Given the description of an element on the screen output the (x, y) to click on. 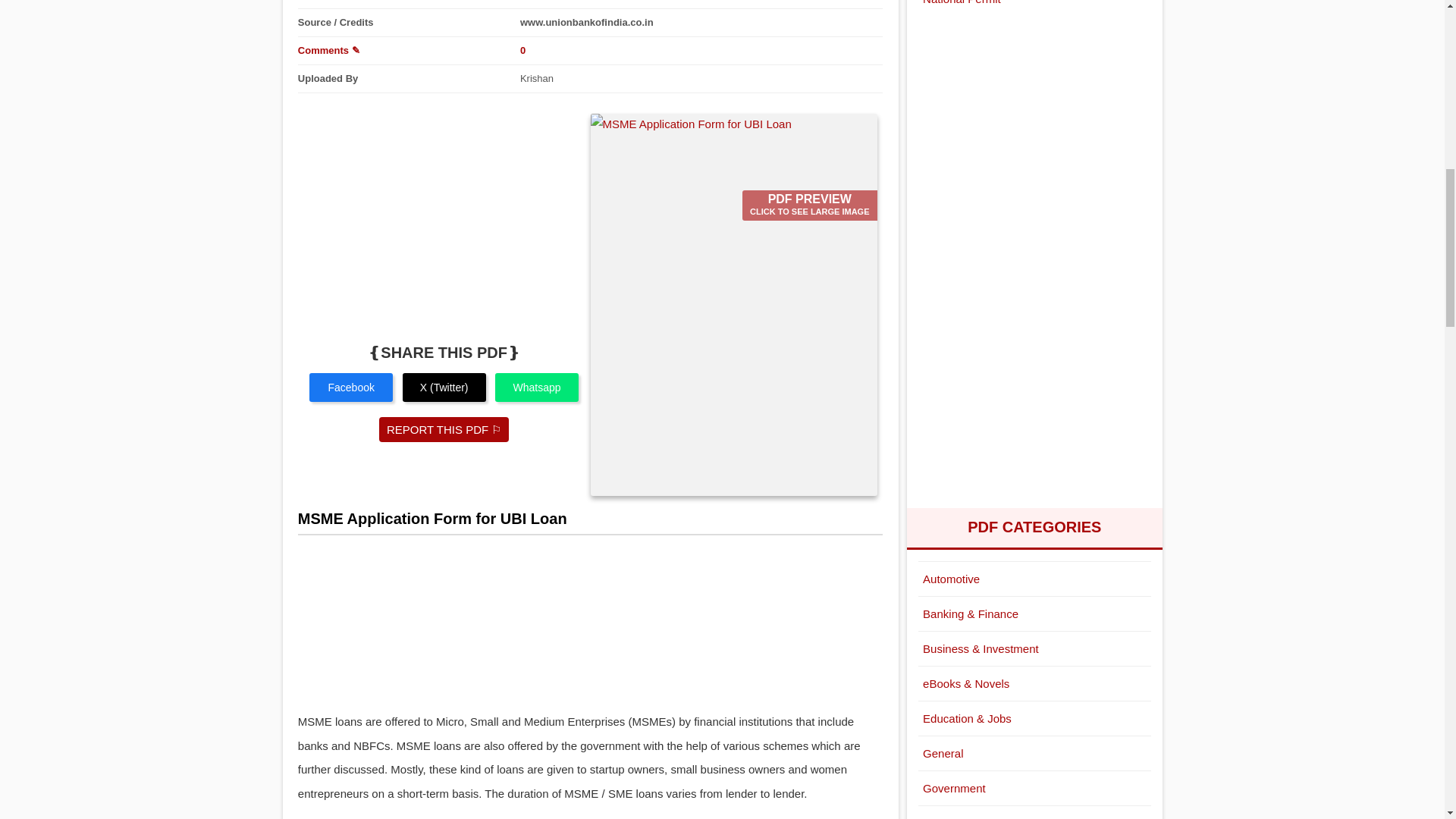
Whatsapp (536, 387)
Form No. 48 Application For Grant of National Permit (1034, 7)
Facebook (350, 387)
